Given the description of an element on the screen output the (x, y) to click on. 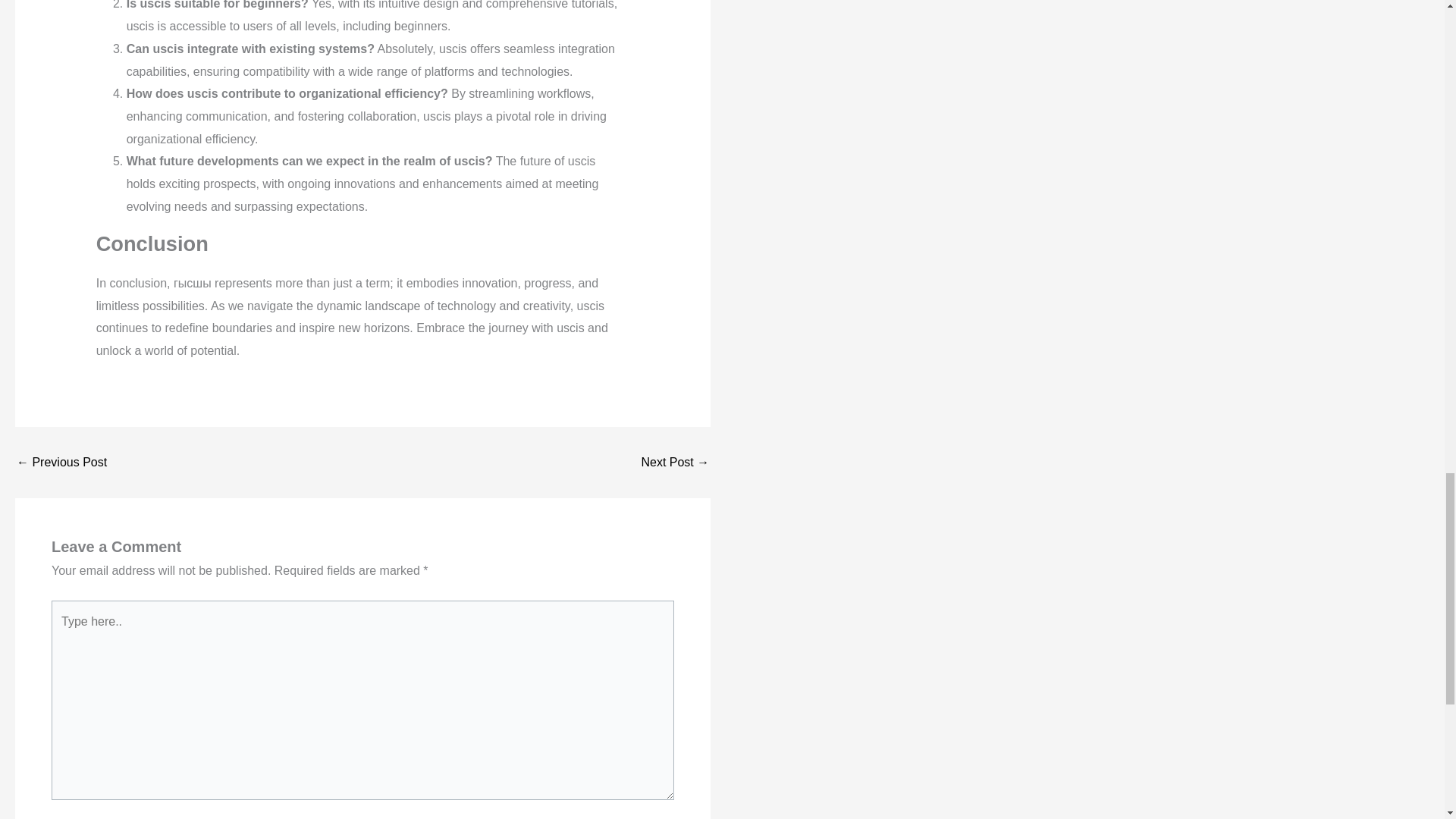
rce07 Error US Visa Scheduling (61, 462)
